Given the description of an element on the screen output the (x, y) to click on. 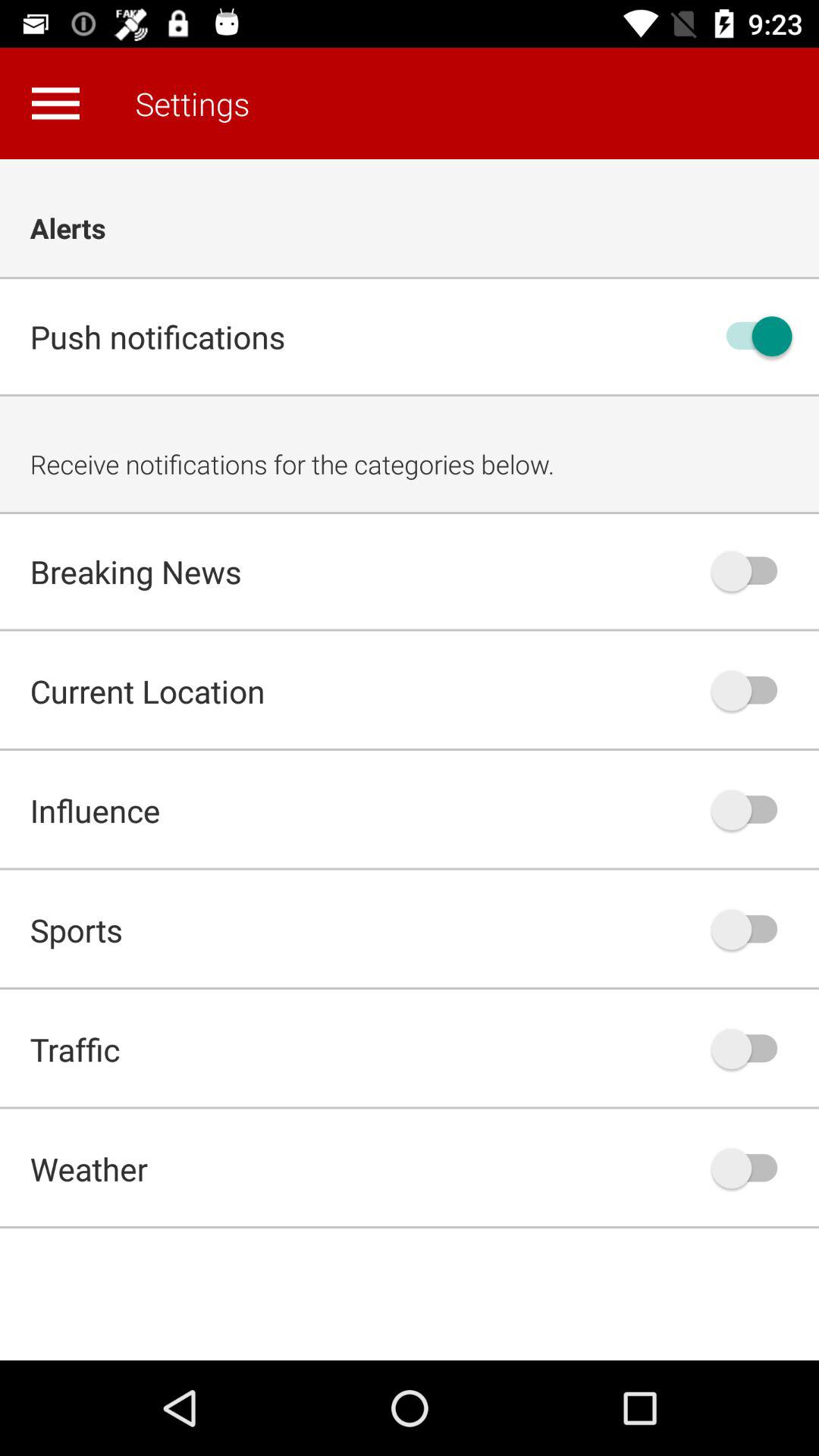
show more app options (55, 103)
